Given the description of an element on the screen output the (x, y) to click on. 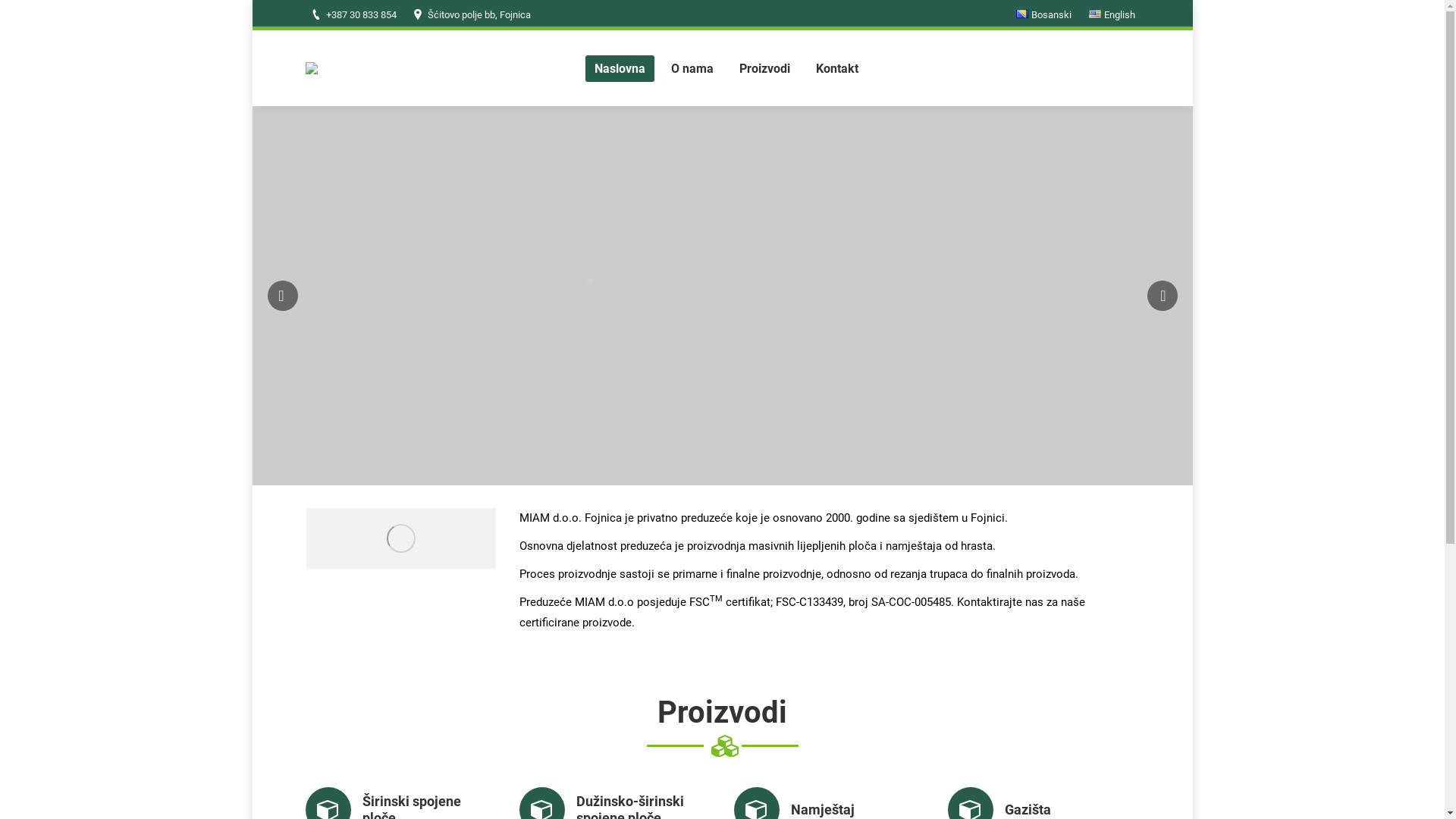
Bosanski Element type: hover (1022, 13)
English Element type: hover (1094, 13)
Bosanski Element type: text (1043, 14)
Kontakt Element type: text (836, 67)
Proizvodi Element type: text (764, 67)
English Element type: text (1111, 14)
O nama Element type: text (692, 67)
Naslovna Element type: text (619, 67)
